Given the description of an element on the screen output the (x, y) to click on. 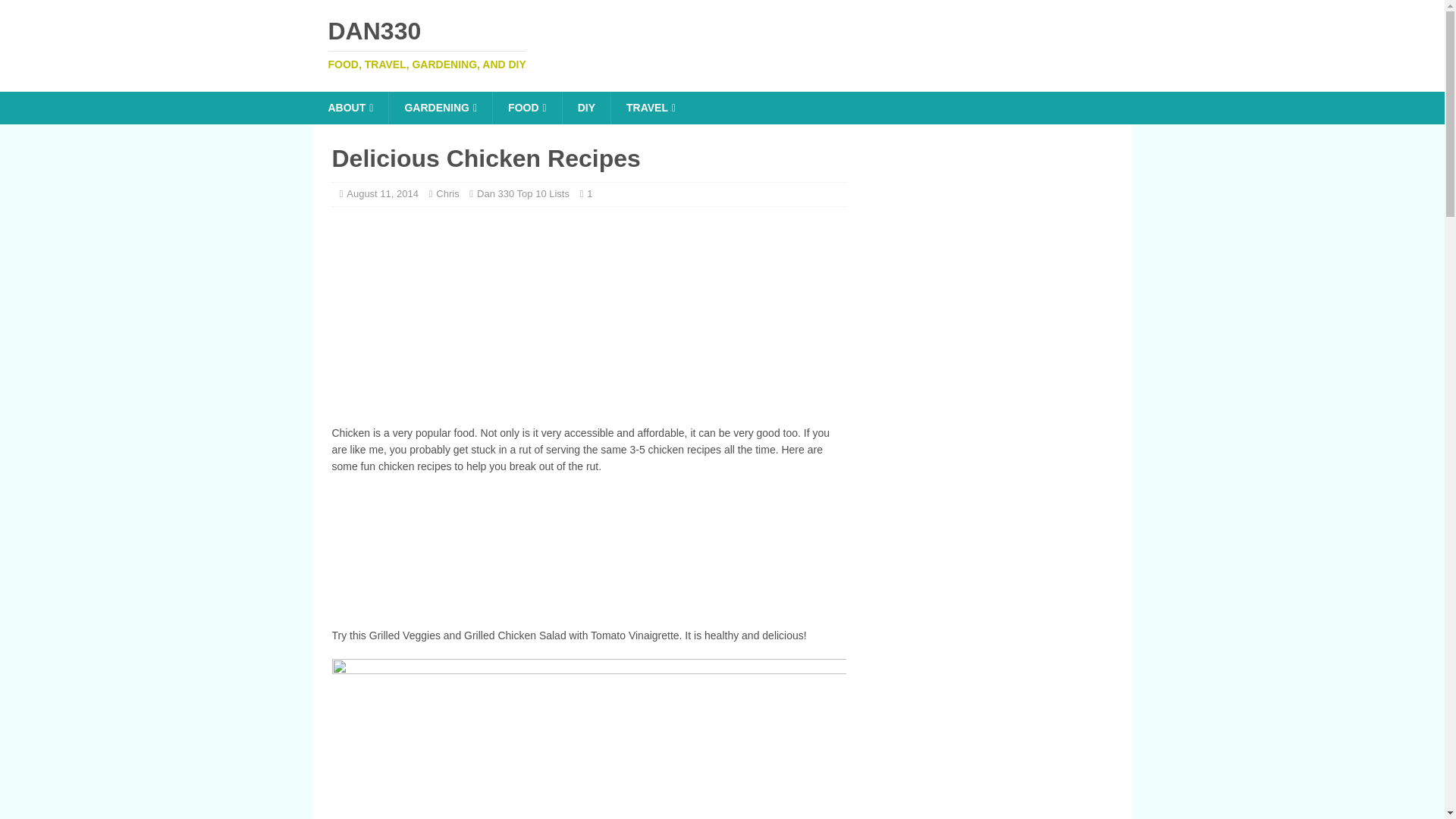
August 11, 2014 (382, 193)
Chris (446, 193)
ABOUT (350, 107)
GARDENING (440, 107)
Dan330 (721, 44)
TRAVEL (721, 44)
FOOD (650, 107)
Advertisement (527, 107)
DIY (588, 554)
